Given the description of an element on the screen output the (x, y) to click on. 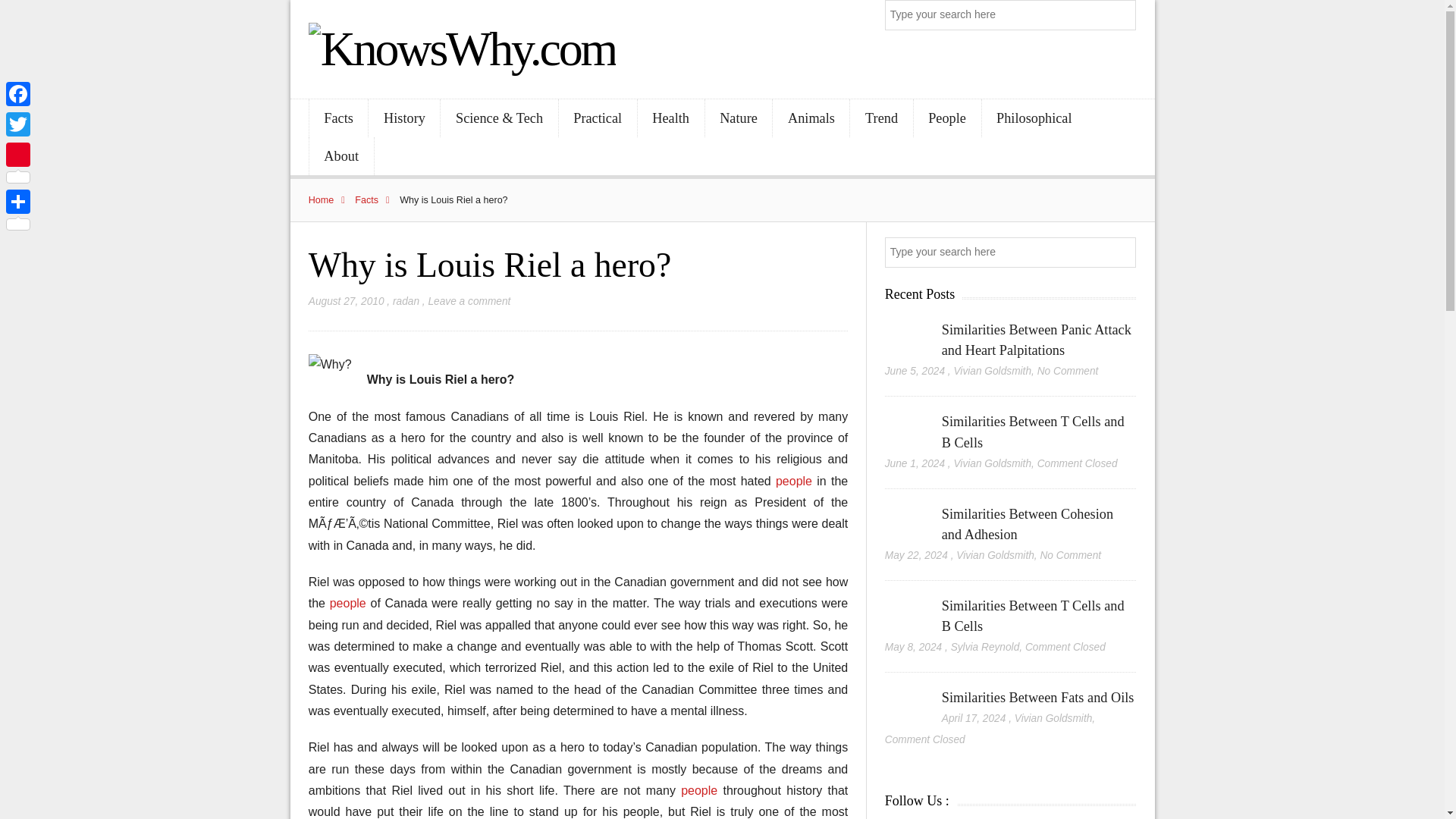
Practical (598, 118)
radan (406, 301)
WHY DO PEOPLE SMOKE (350, 603)
Home (330, 199)
Posts by radan (406, 301)
Facts (338, 118)
Trend (881, 118)
Leave a comment (469, 301)
Nature (738, 118)
About (341, 156)
